Given the description of an element on the screen output the (x, y) to click on. 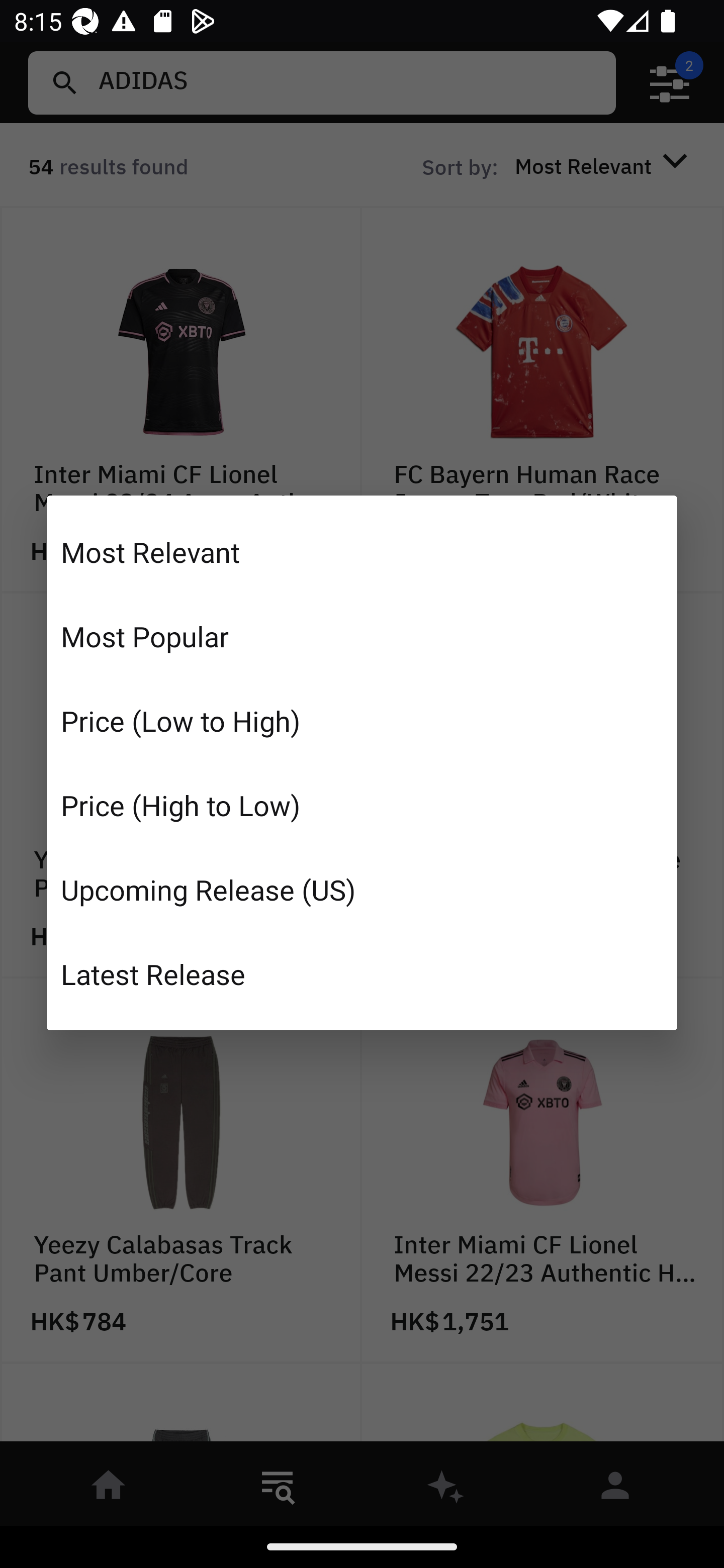
Most Relevant (361, 551)
Most Popular (361, 636)
Price (Low to High) (361, 720)
Price (High to Low) (361, 804)
Upcoming Release (US) (361, 888)
Latest Release (361, 973)
